Given the description of an element on the screen output the (x, y) to click on. 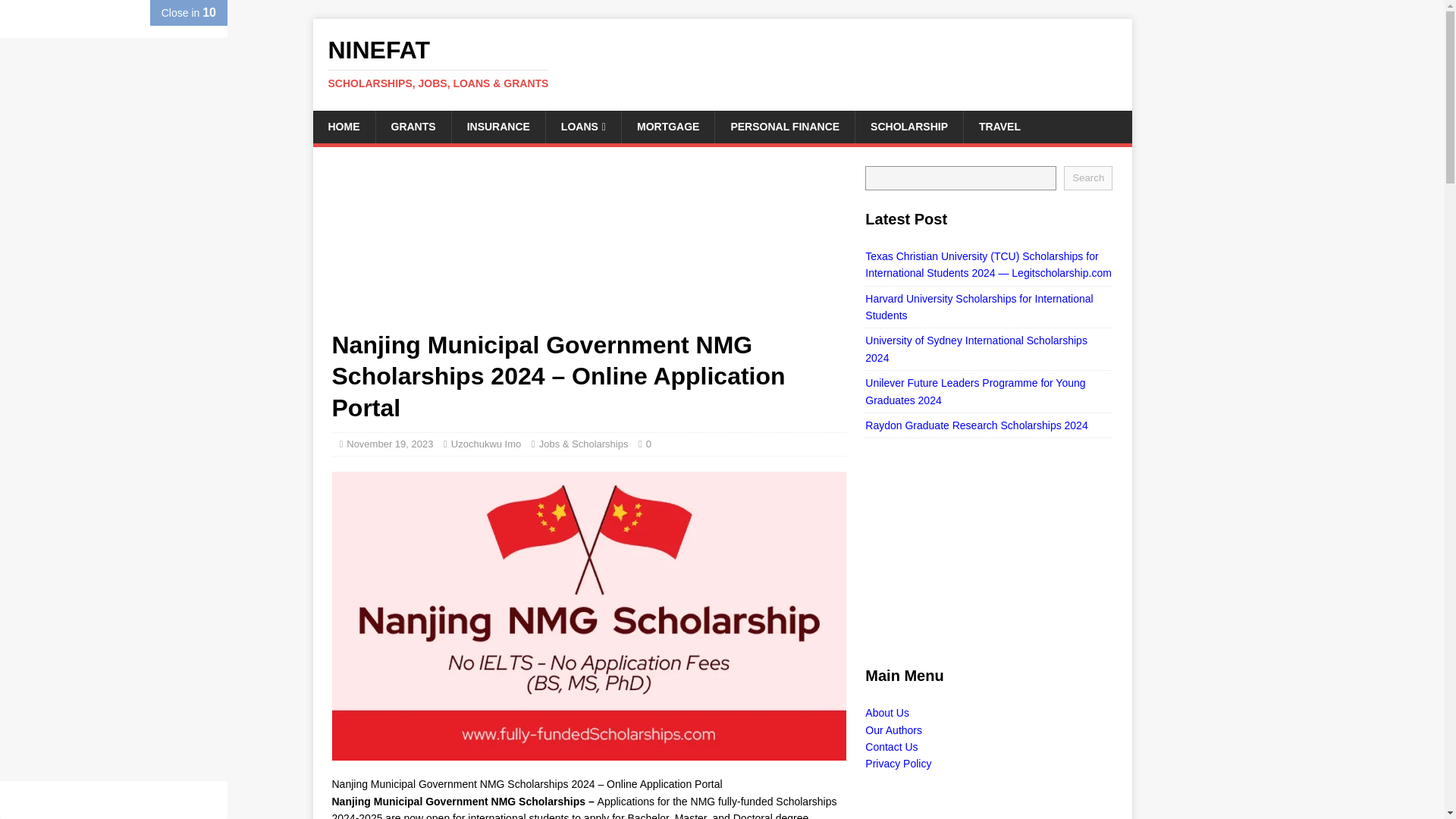
0 (648, 443)
0 (648, 443)
NineFat (721, 63)
HOME (343, 126)
PERSONAL FINANCE (784, 126)
MORTGAGE (667, 126)
SCHOLARSHIP (908, 126)
GRANTS (411, 126)
TRAVEL (998, 126)
November 19, 2023 (389, 443)
Uzochukwu Imo (486, 443)
LOANS (582, 126)
INSURANCE (497, 126)
